Given the description of an element on the screen output the (x, y) to click on. 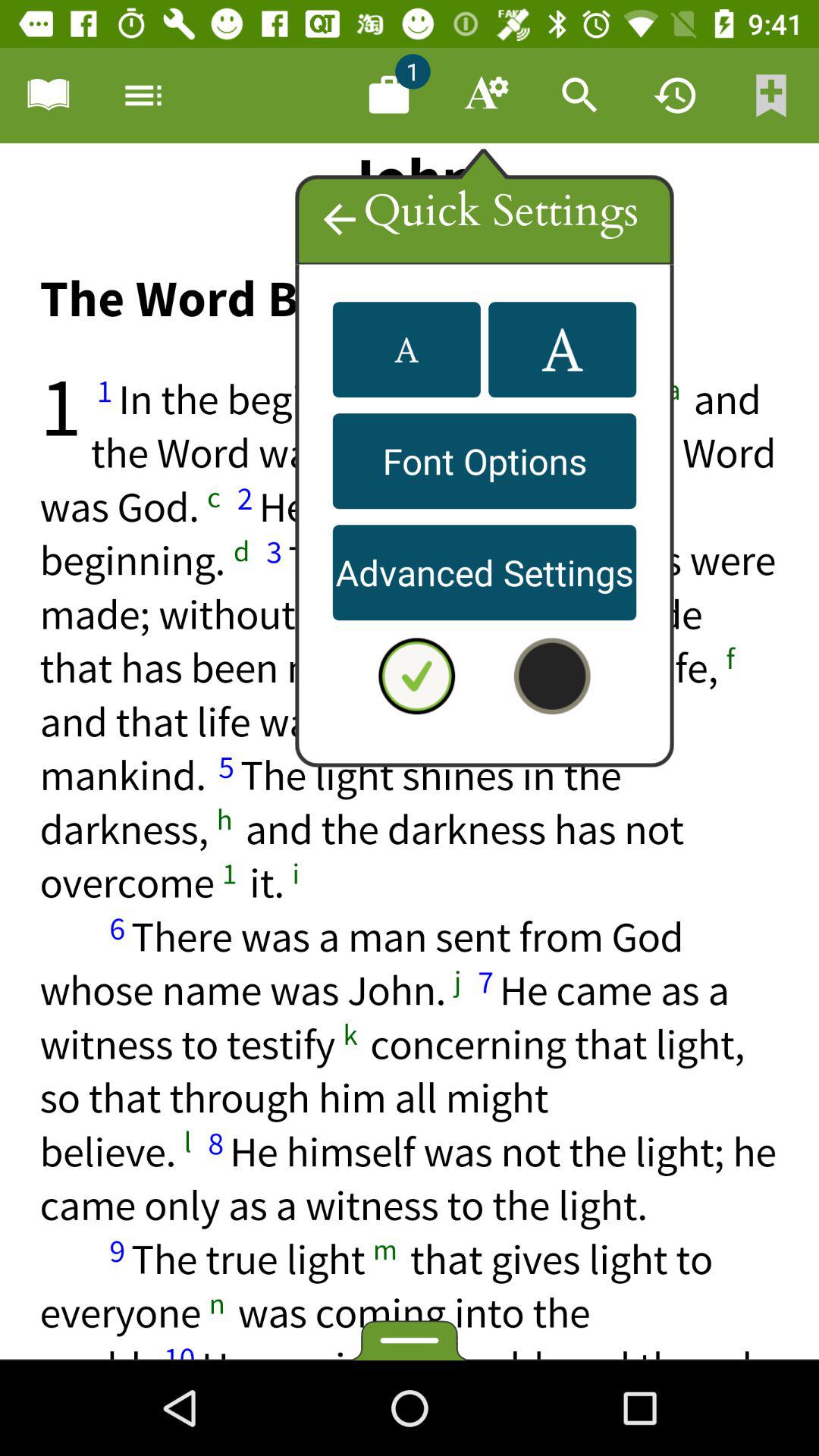
options (143, 95)
